Given the description of an element on the screen output the (x, y) to click on. 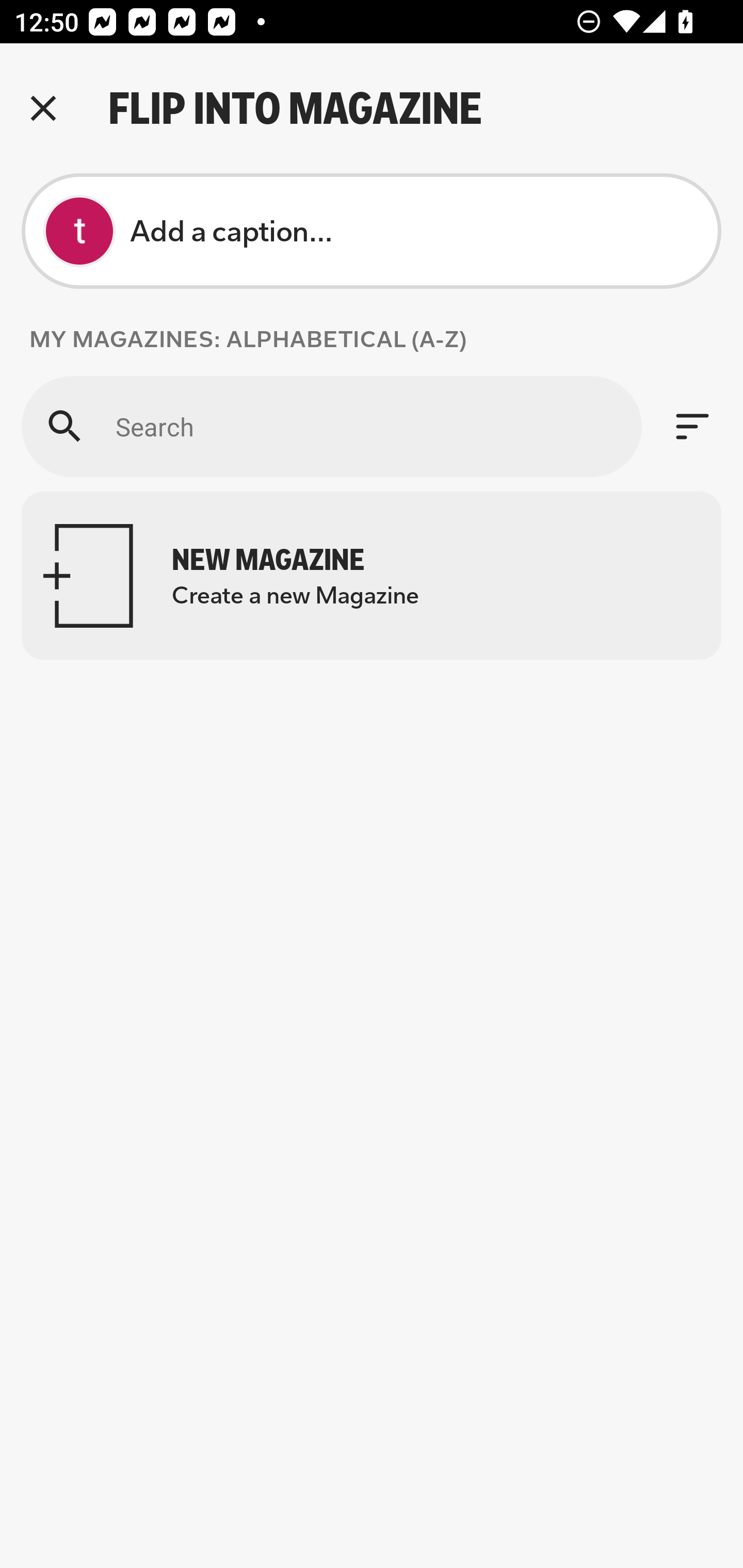
test appium Add a caption… (371, 231)
Search (331, 426)
NEW MAGAZINE Create a new Magazine (371, 575)
